Given the description of an element on the screen output the (x, y) to click on. 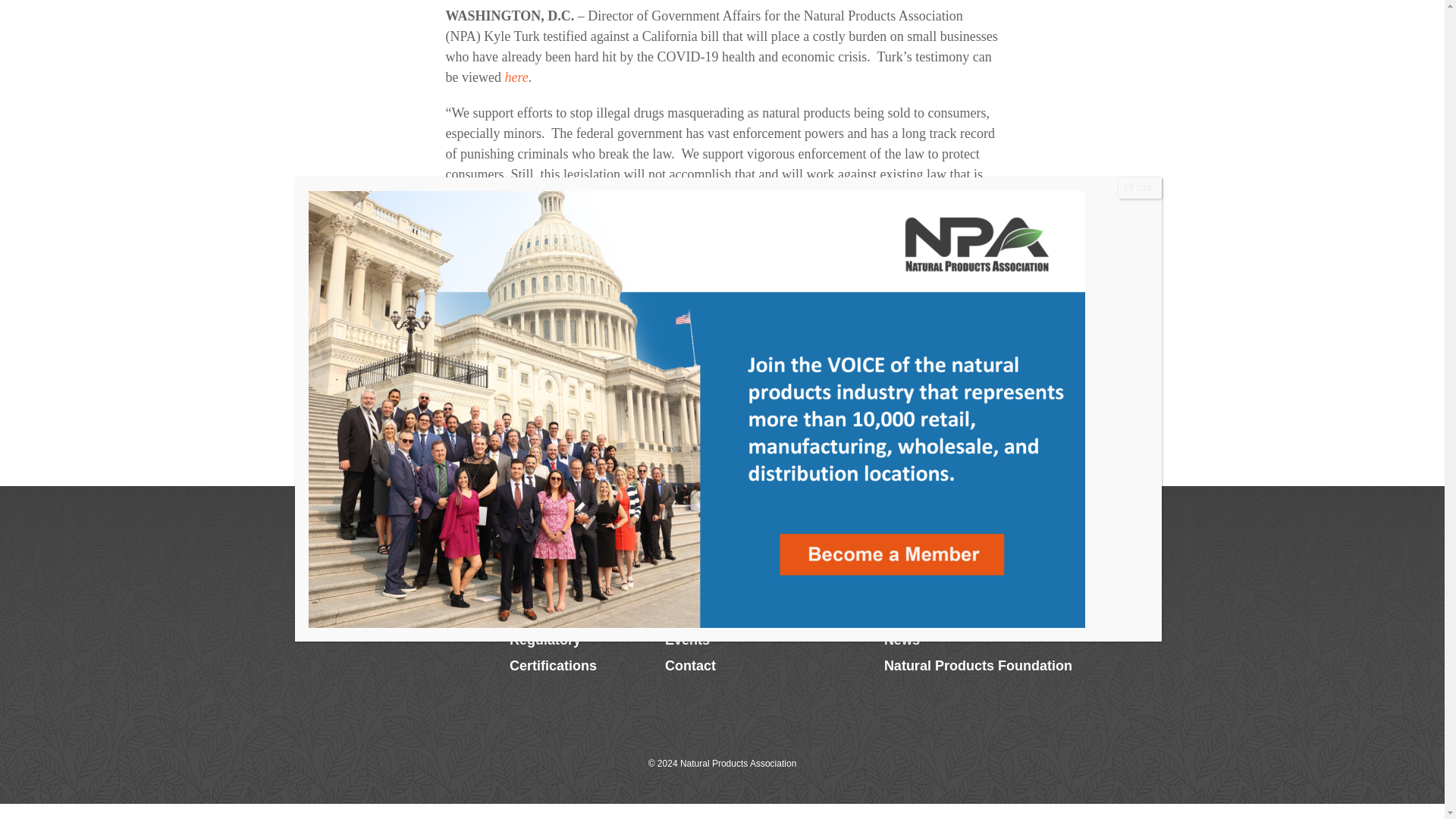
here (515, 77)
